Given the description of an element on the screen output the (x, y) to click on. 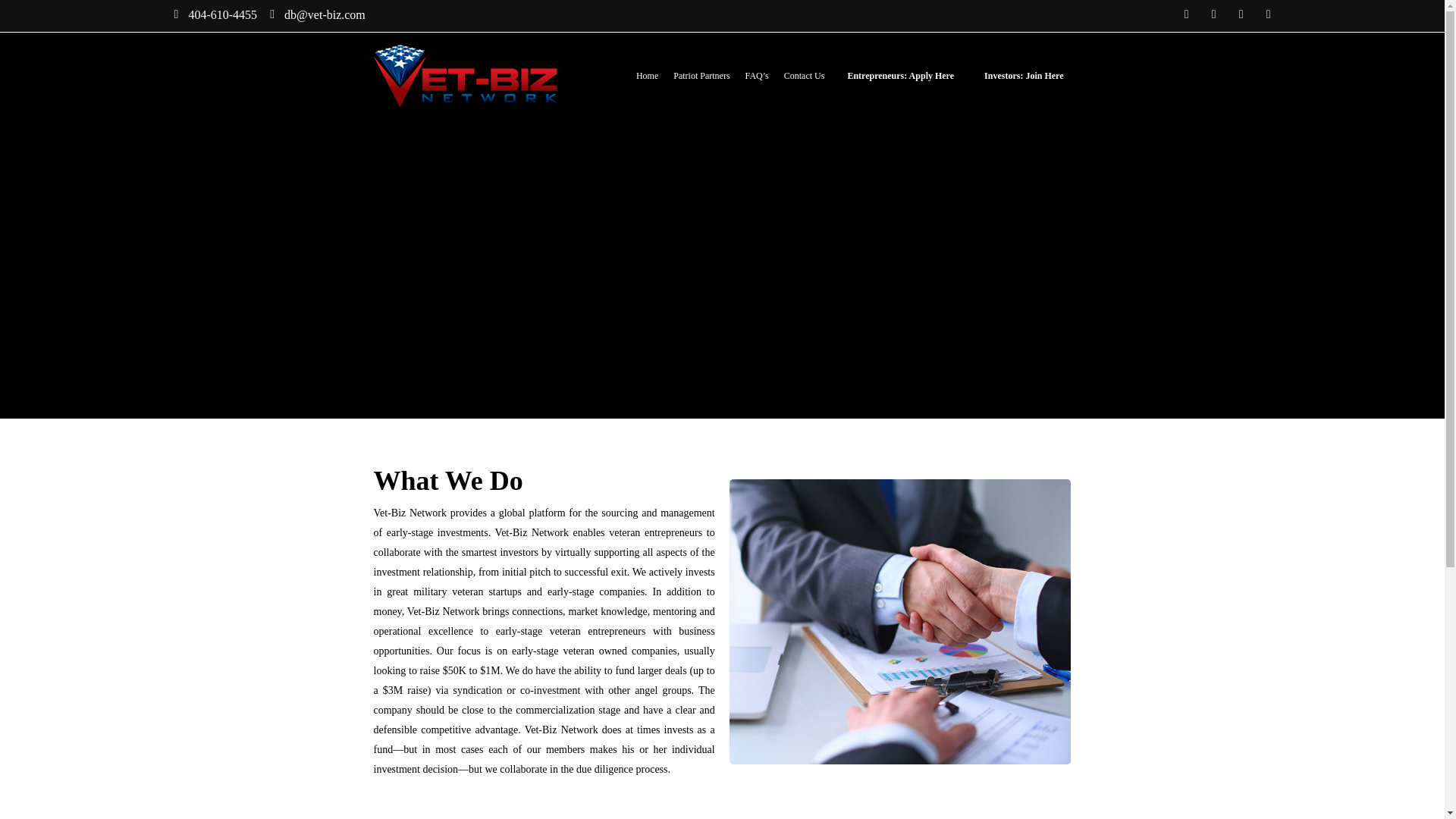
Home (647, 75)
Contact Us (804, 75)
Investors: Join Here (1023, 75)
Entrepreneurs: Apply Here (900, 75)
Patriot Partners (700, 75)
404-610-4455 (210, 14)
